Given the description of an element on the screen output the (x, y) to click on. 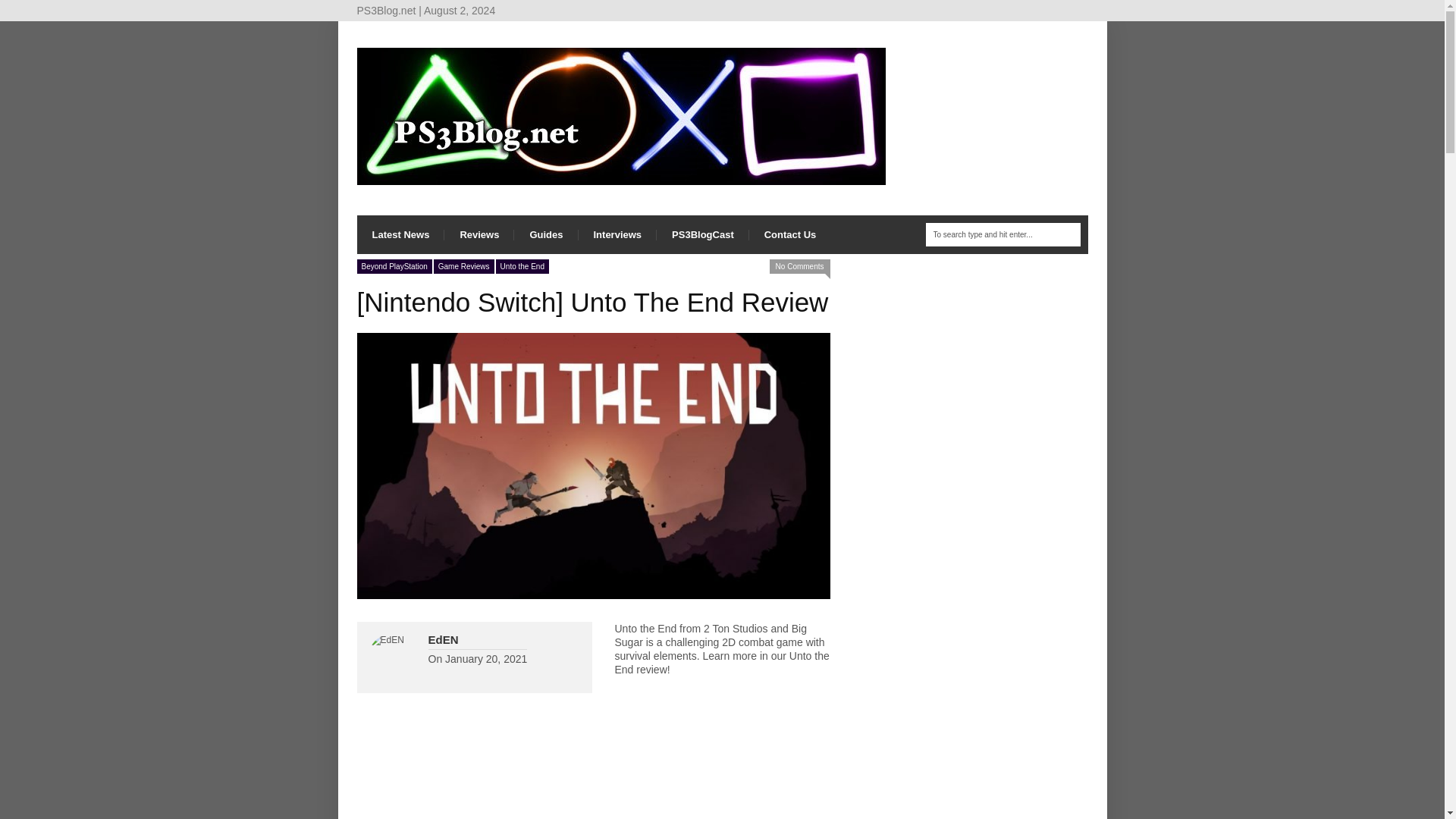
PS3BlogCast (702, 234)
No Comments (799, 266)
Reviews (478, 234)
Contact Us (790, 234)
Guides (545, 234)
Game Reviews (464, 266)
To search type and hit enter... (1002, 234)
Posts by EdEN (443, 639)
Latest News (400, 234)
Unto the End (522, 266)
